Given the description of an element on the screen output the (x, y) to click on. 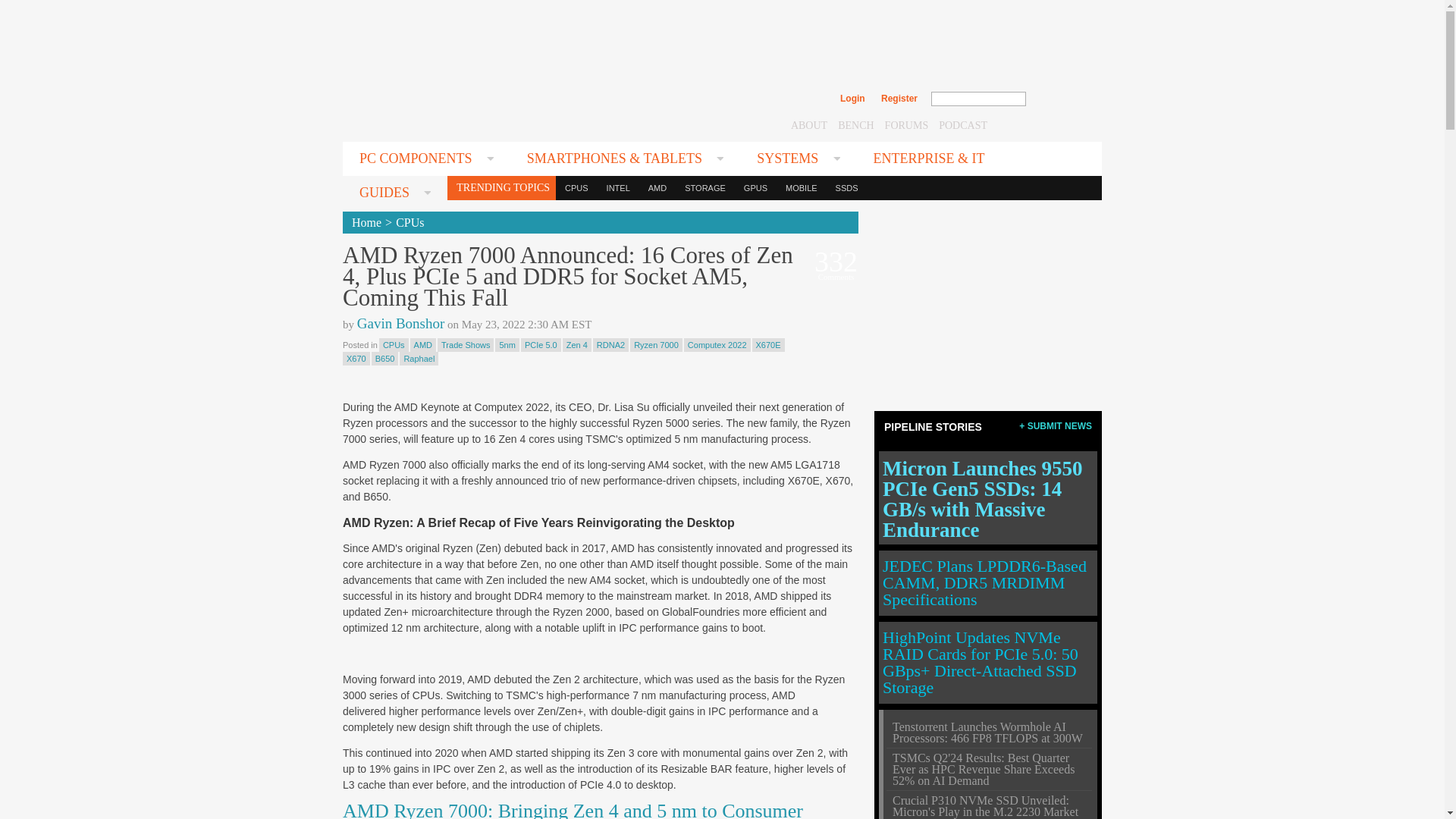
FORUMS (906, 125)
PODCAST (963, 125)
ABOUT (808, 125)
search (1059, 98)
Login (852, 98)
BENCH (855, 125)
search (1059, 98)
Register (898, 98)
search (1059, 98)
